Given the description of an element on the screen output the (x, y) to click on. 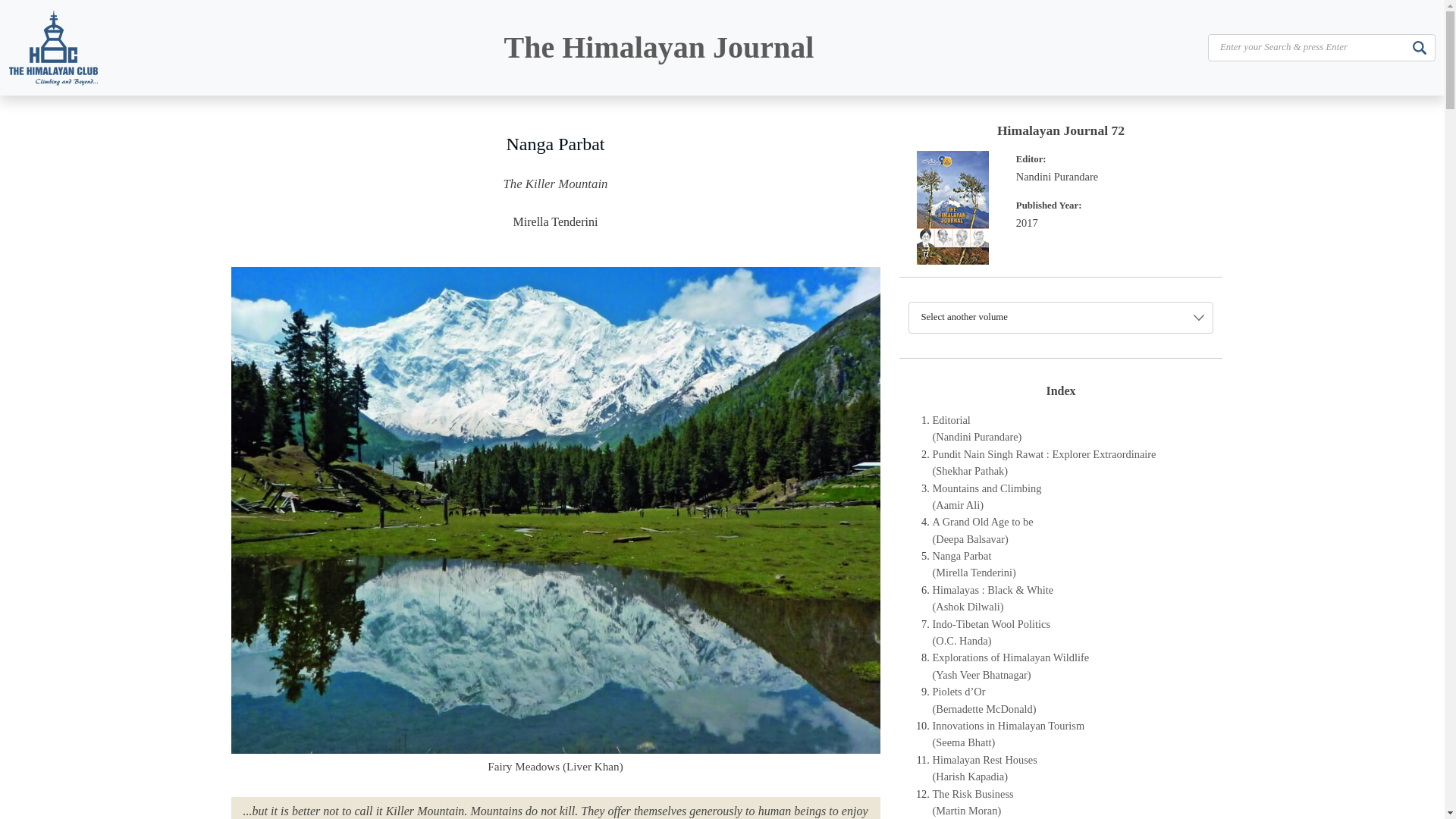
The Himalayan Journal (658, 47)
